Given the description of an element on the screen output the (x, y) to click on. 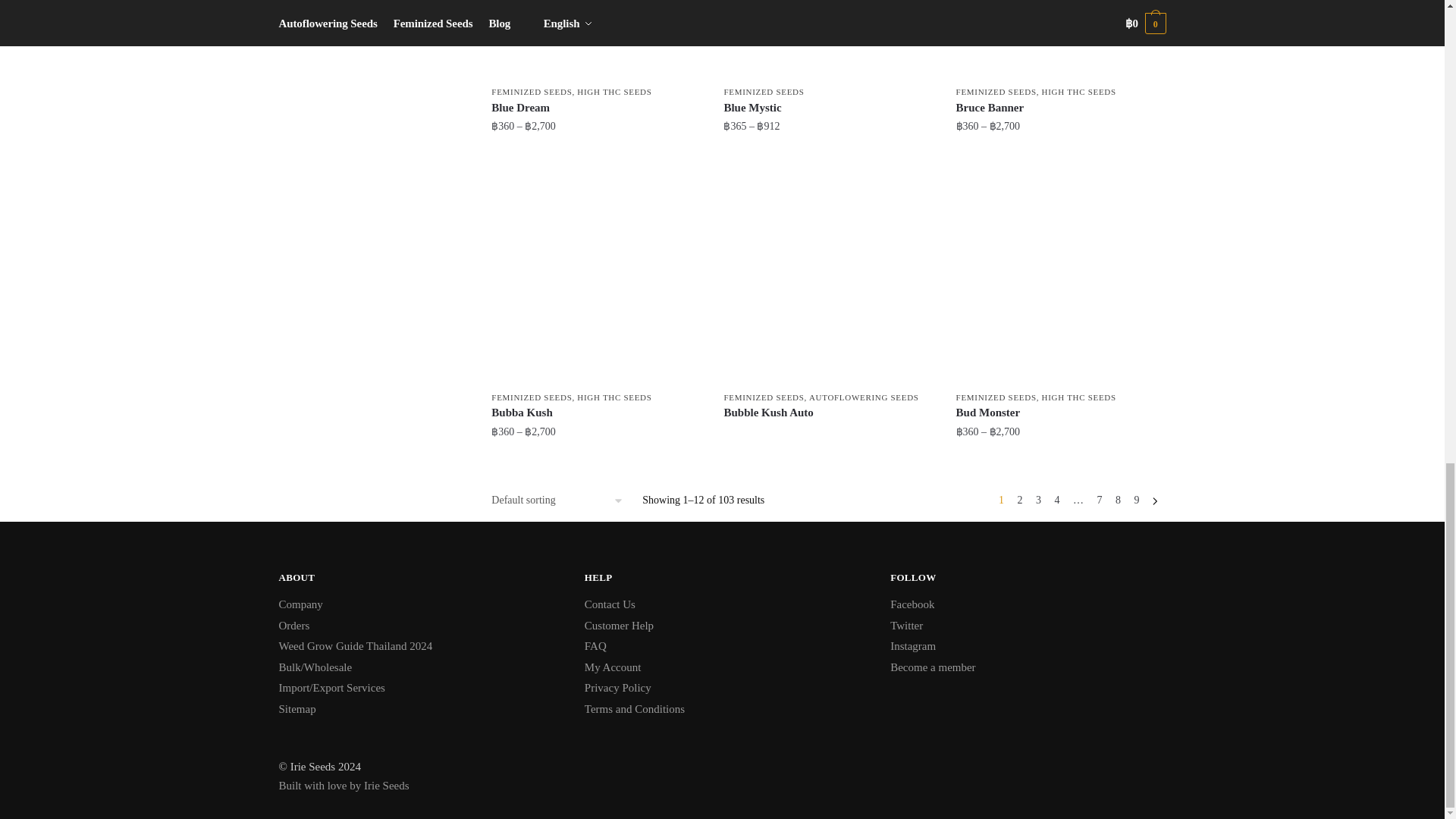
Blue Dream (596, 39)
Bubba Kush (596, 279)
Bubble Kush Auto (828, 279)
Bruce Banner (1061, 39)
Blue Mystic (828, 39)
